Given the description of an element on the screen output the (x, y) to click on. 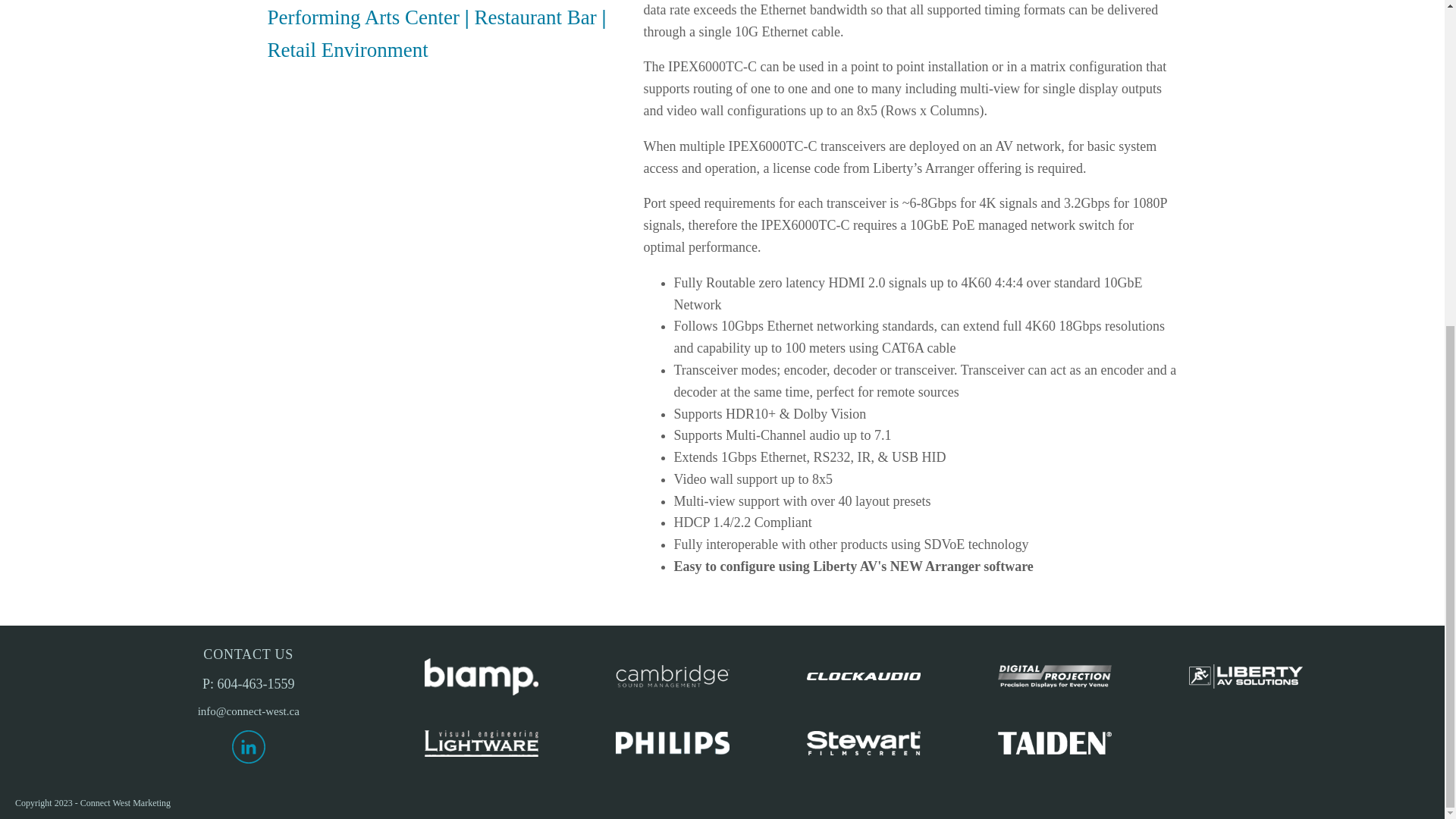
Performing Arts Center (362, 16)
Retail Environment (347, 49)
Restaurant Bar (534, 16)
P: 604-463-1559 (248, 684)
